Given the description of an element on the screen output the (x, y) to click on. 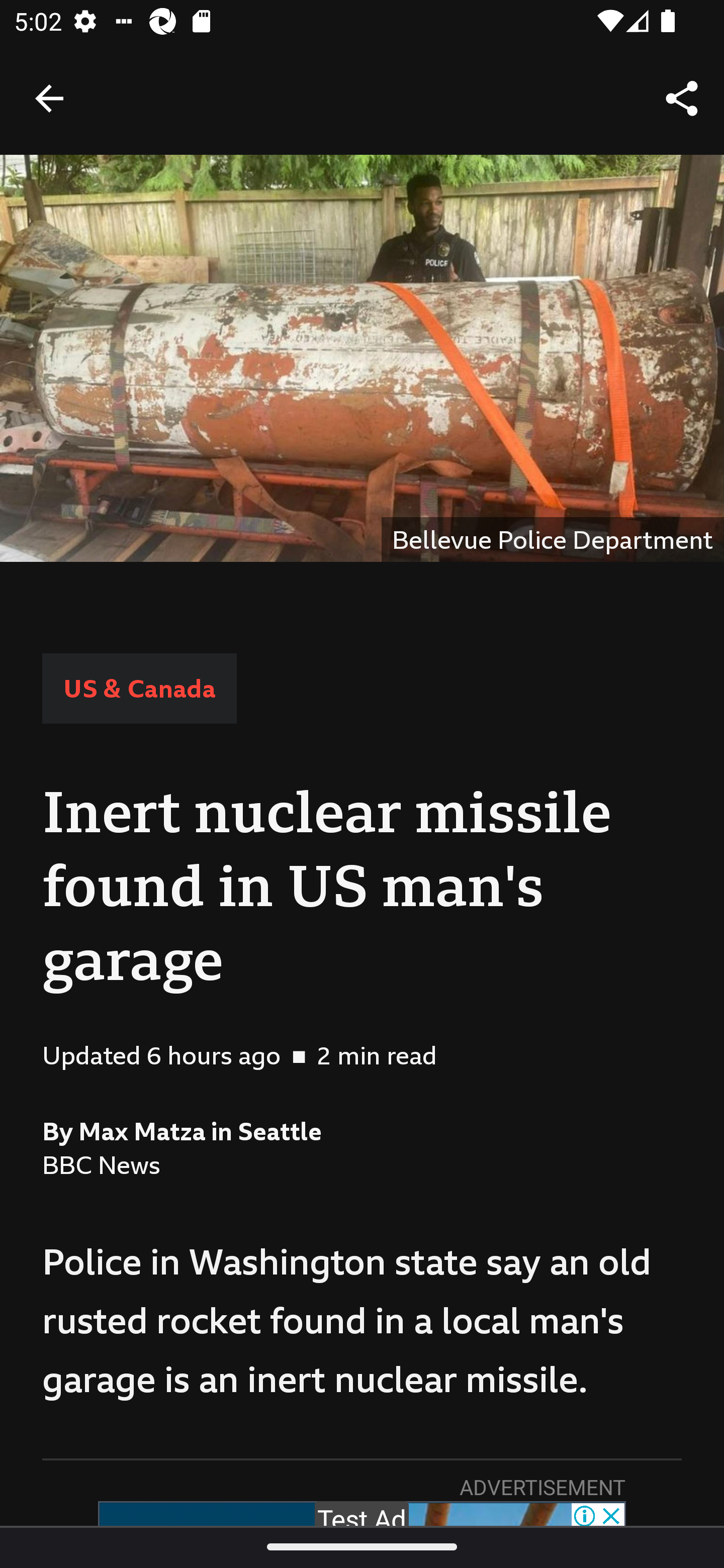
Back (49, 97)
Share (681, 98)
An officer near the rusty rocket (362, 358)
US & Canada (138, 688)
